Given the description of an element on the screen output the (x, y) to click on. 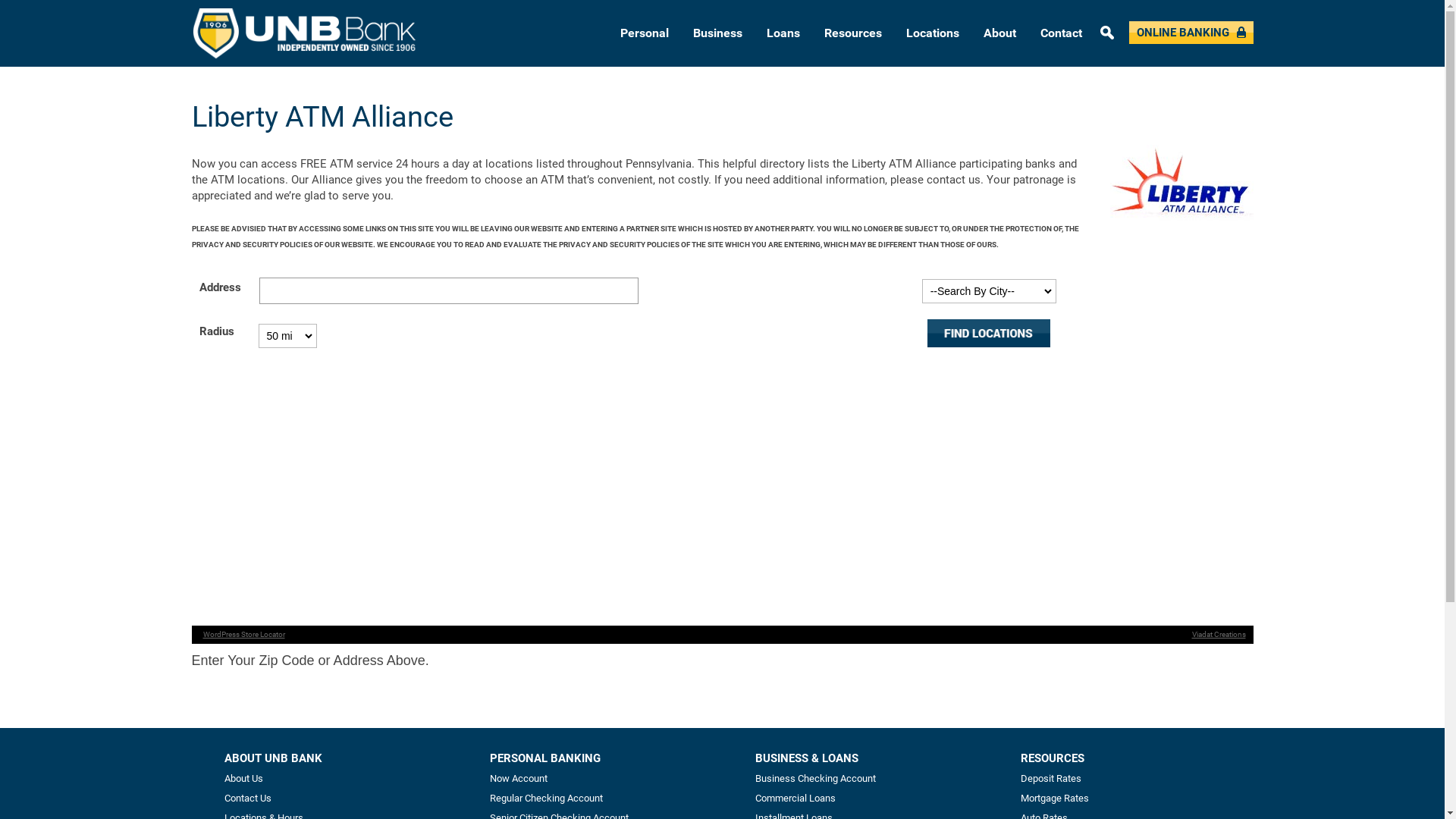
Mortgage Rates Element type: text (1054, 797)
Resources Element type: text (852, 33)
Viadat Creations Element type: text (1216, 634)
About Element type: text (998, 33)
Business Element type: text (717, 33)
About Us Element type: text (243, 778)
Regular Checking Account Element type: text (545, 797)
Contact Element type: text (1061, 33)
Loans Element type: text (782, 33)
Business Checking Account Element type: text (815, 778)
Deposit Rates Element type: text (1050, 778)
Search Locations Element type: text (988, 332)
Locations Element type: text (931, 33)
Now Account Element type: text (518, 778)
ONLINE BANKING Element type: text (1190, 32)
Contact Us Element type: text (247, 797)
Personal Element type: text (644, 33)
WordPress Store Locator Element type: text (241, 634)
Commercial Loans Element type: text (795, 797)
